Given the description of an element on the screen output the (x, y) to click on. 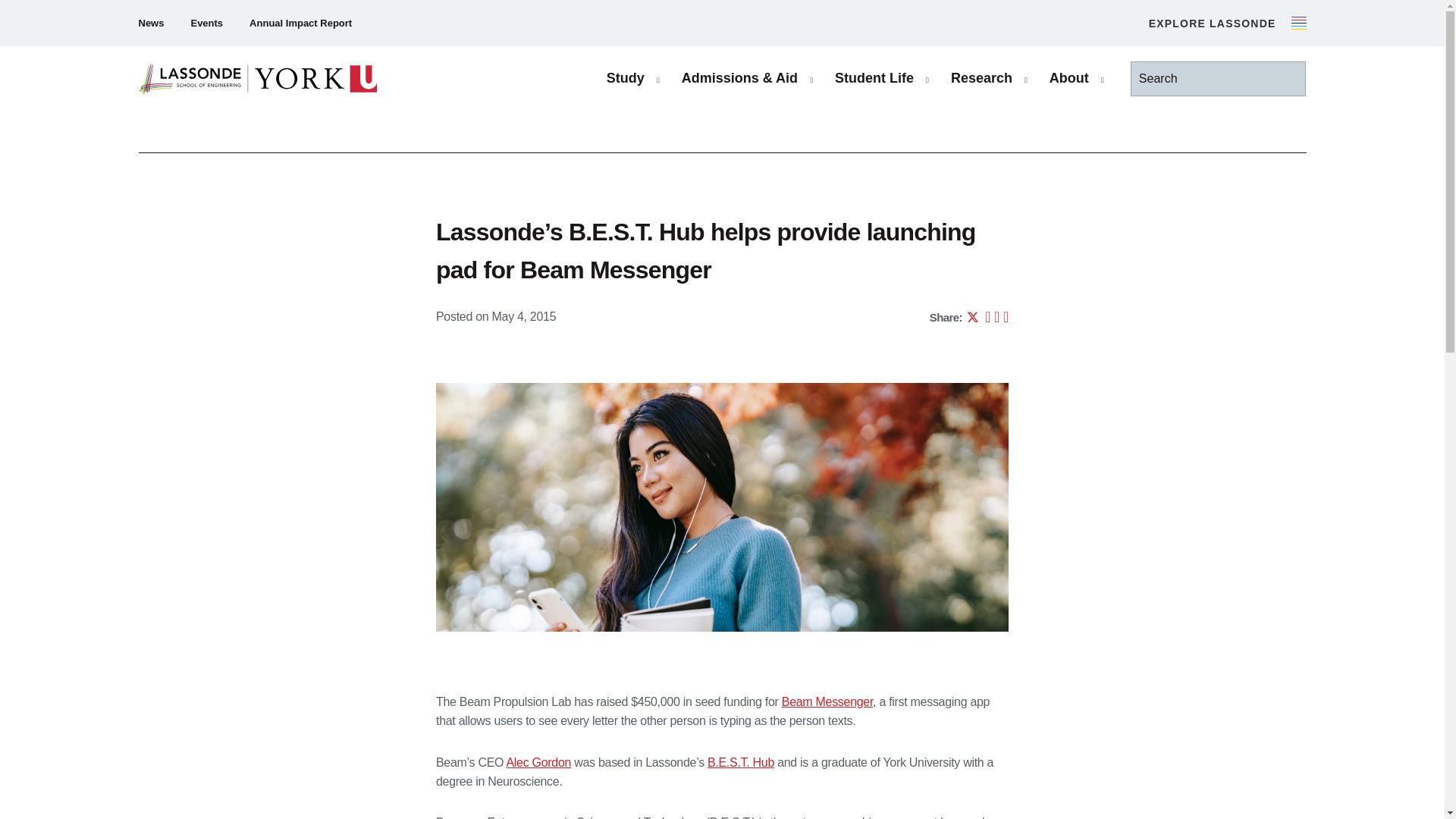
EXPLORE LASSONDE (1227, 22)
Annual Impact Report (300, 22)
